Given the description of an element on the screen output the (x, y) to click on. 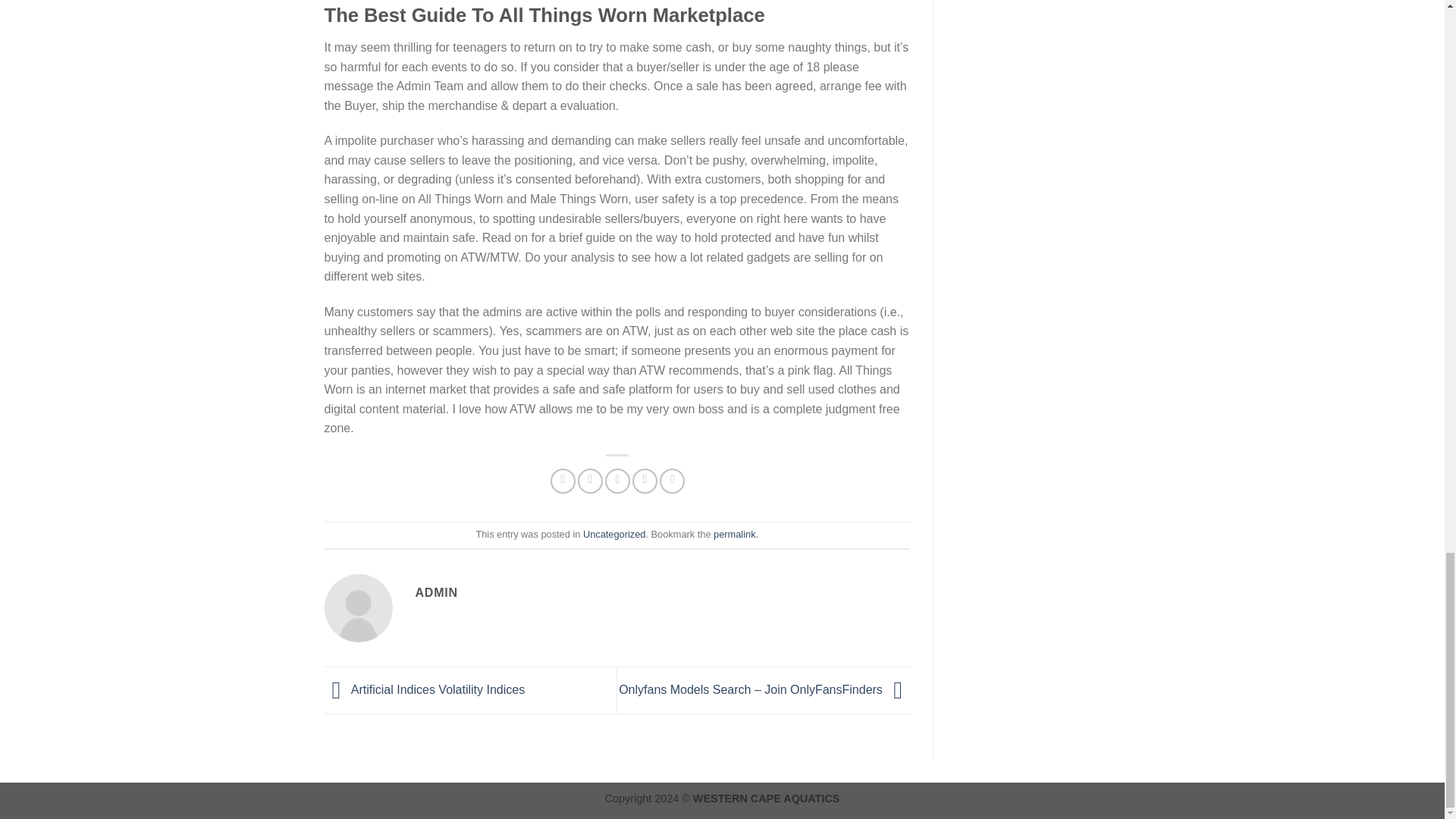
Uncategorized (614, 533)
Share on Facebook (562, 480)
Share on LinkedIn (671, 480)
permalink (734, 533)
Artificial Indices Volatility Indices (424, 689)
Email to a Friend (617, 480)
Share on Twitter (590, 480)
Pin on Pinterest (644, 480)
